Given the description of an element on the screen output the (x, y) to click on. 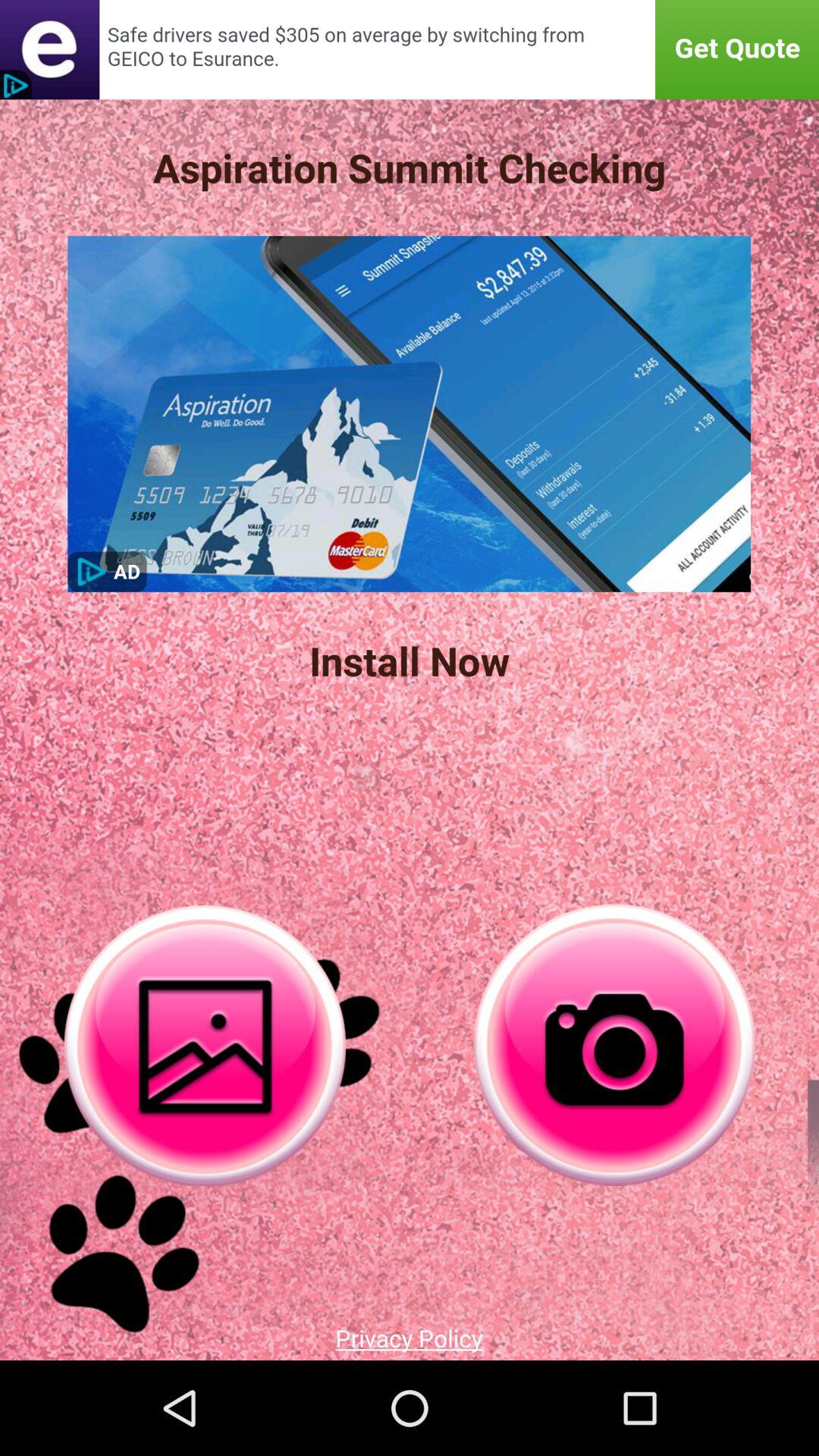
go to gallery option (204, 1044)
